Given the description of an element on the screen output the (x, y) to click on. 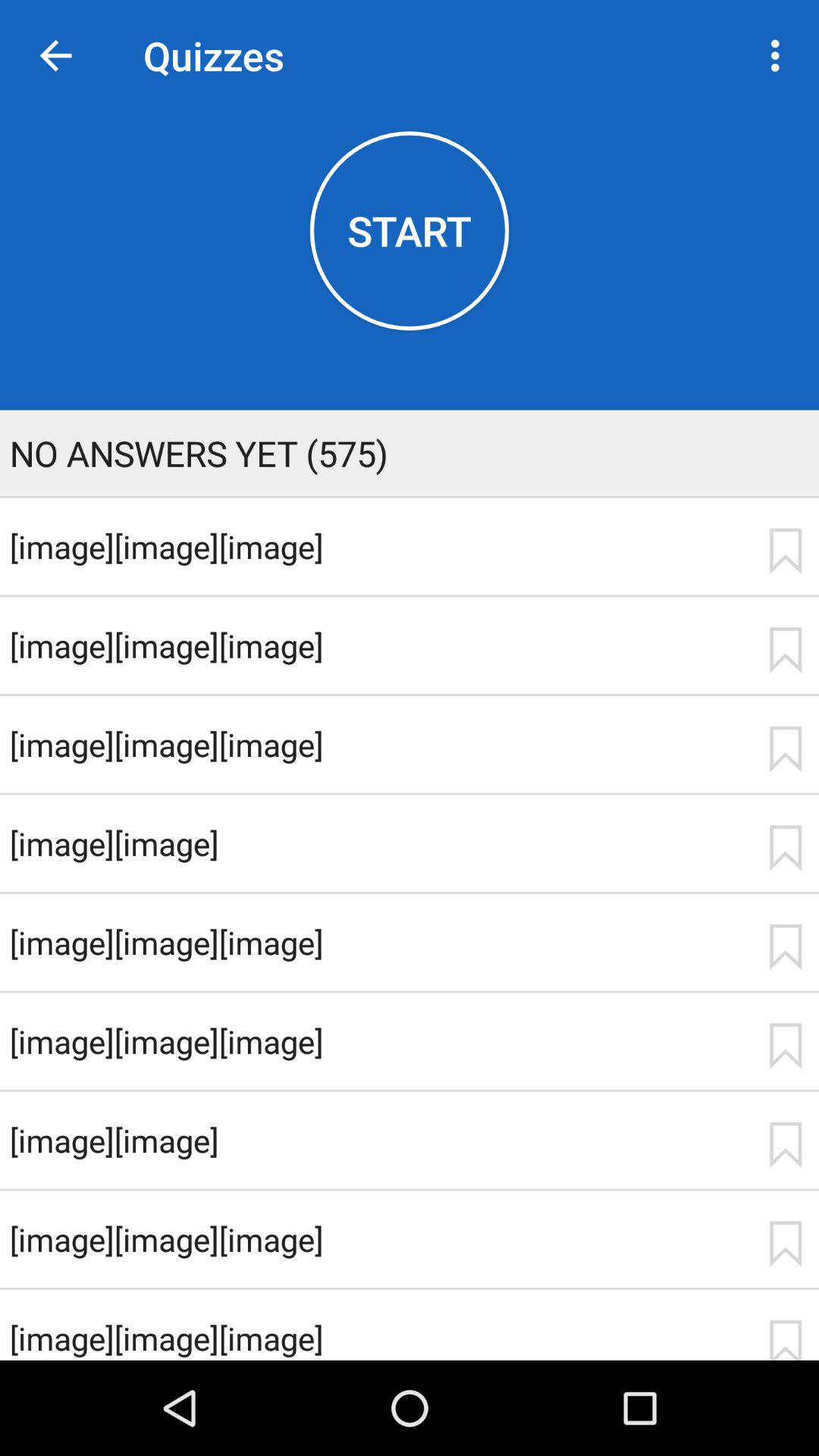
select/unselect notification (784, 1145)
